Given the description of an element on the screen output the (x, y) to click on. 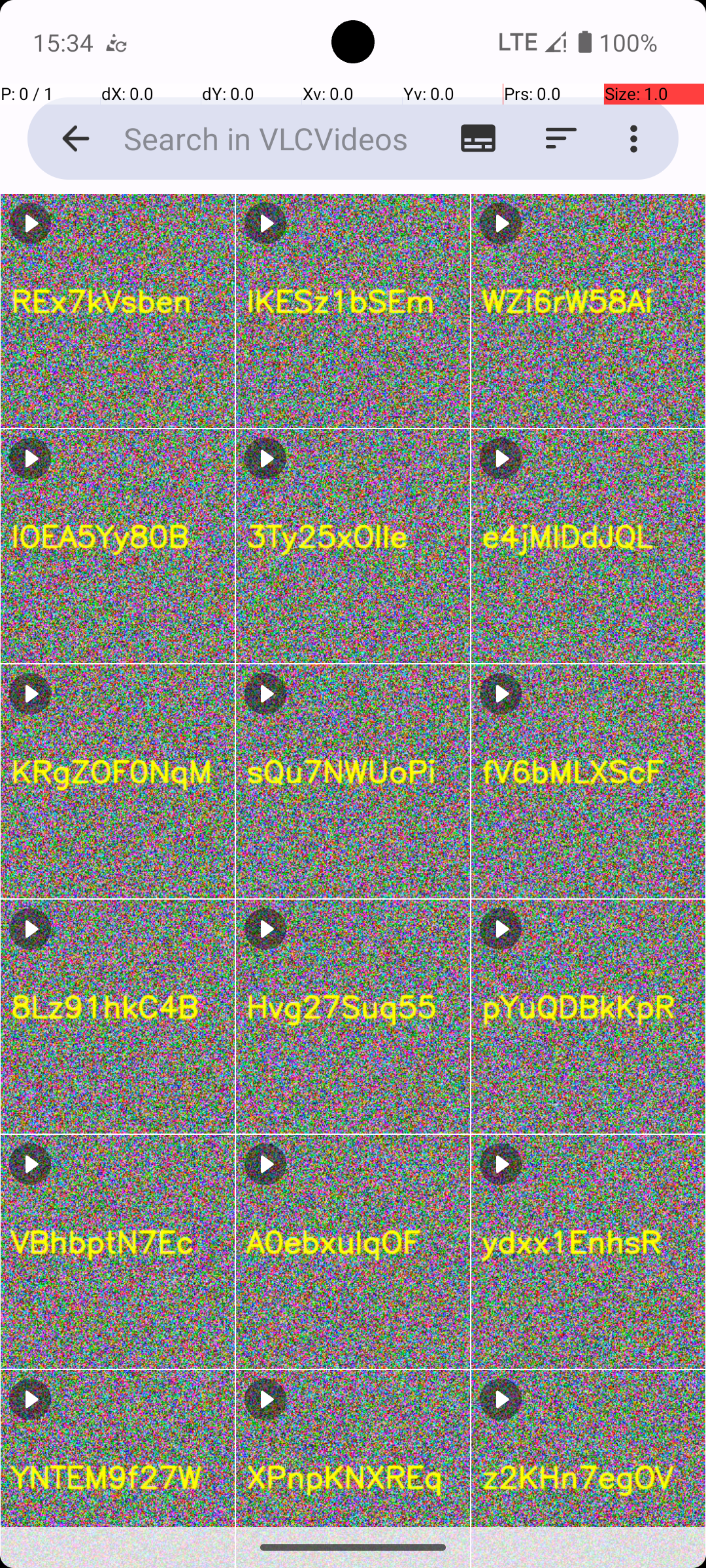
Search in VLCVideos Element type: android.widget.EditText (252, 138)
